Given the description of an element on the screen output the (x, y) to click on. 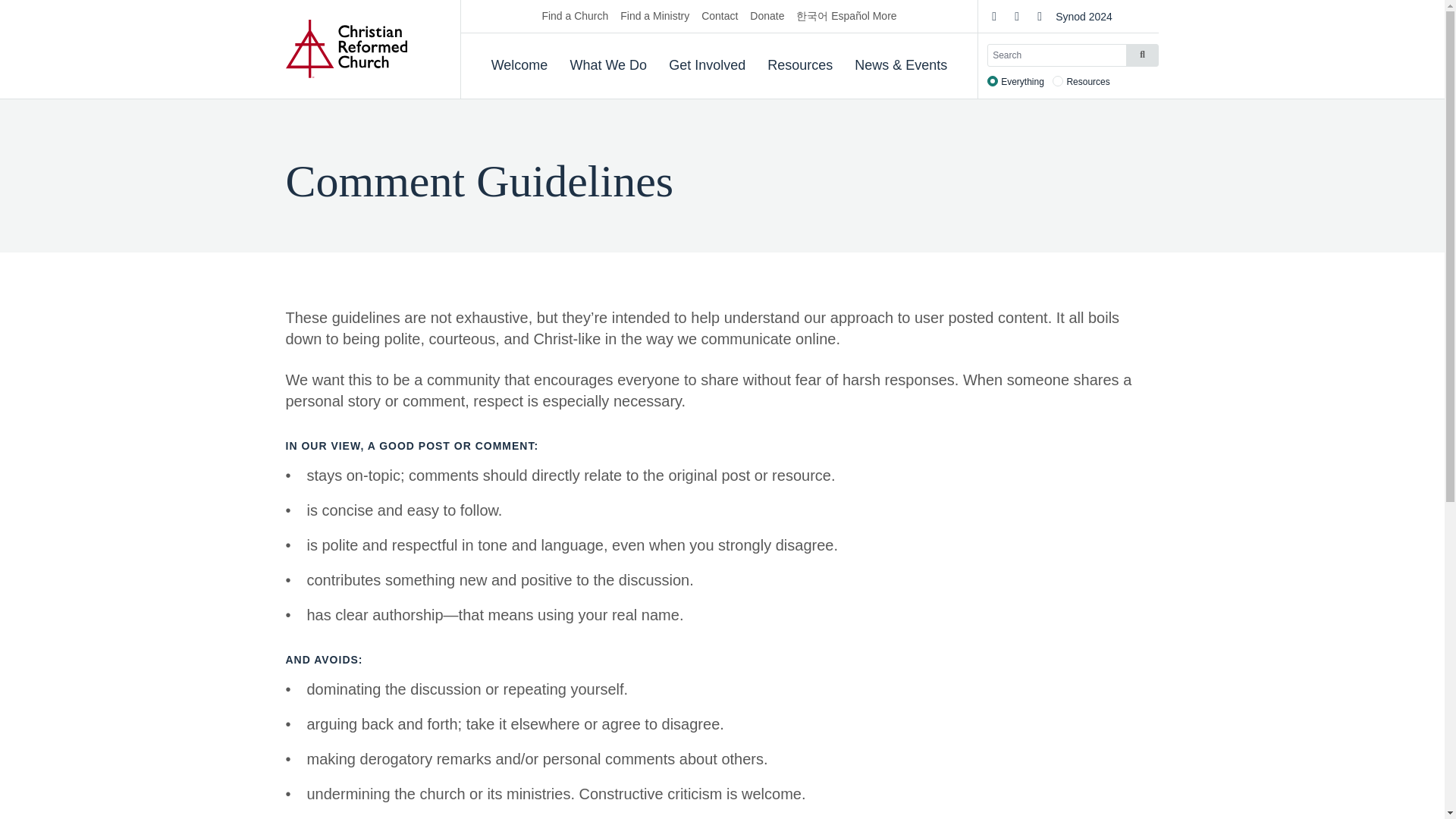
Resources (799, 65)
Enter the terms you wish to search for. (1072, 55)
Find a Church (574, 16)
Search (1141, 55)
Get Involved (706, 65)
Contact (719, 16)
Find a Ministry (654, 16)
Search (1141, 55)
Home (345, 49)
Donate (766, 16)
Synod 2024 (1083, 16)
What We Do (607, 65)
